Given the description of an element on the screen output the (x, y) to click on. 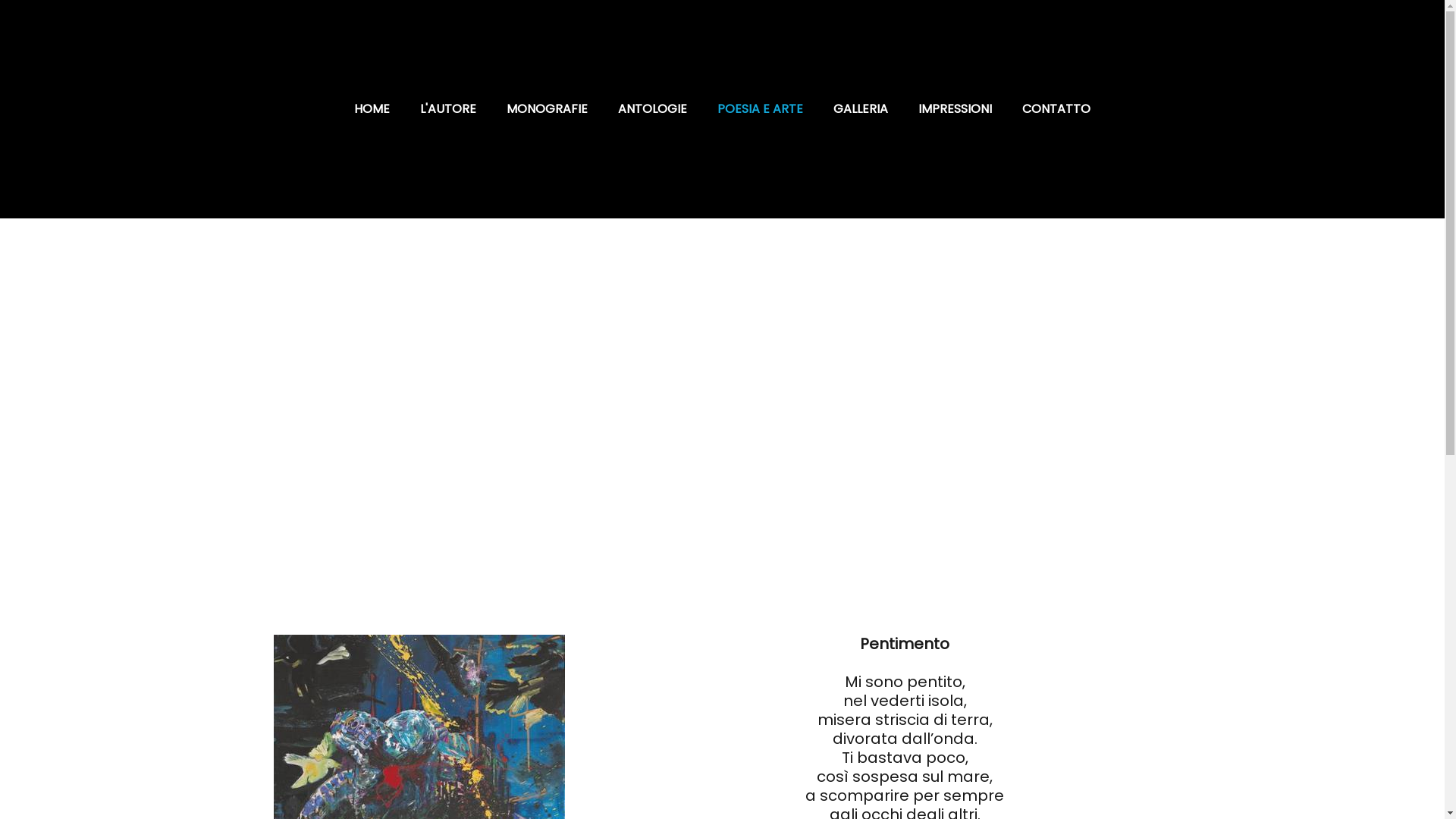
POESIA E ARTE Element type: text (760, 108)
L'AUTORE Element type: text (447, 108)
ANTOLOGIE Element type: text (652, 108)
IMPRESSIONI Element type: text (955, 108)
CONTATTO Element type: text (1056, 108)
HOME Element type: text (371, 108)
GALLERIA Element type: text (860, 108)
MONOGRAFIE Element type: text (546, 108)
